Given the description of an element on the screen output the (x, y) to click on. 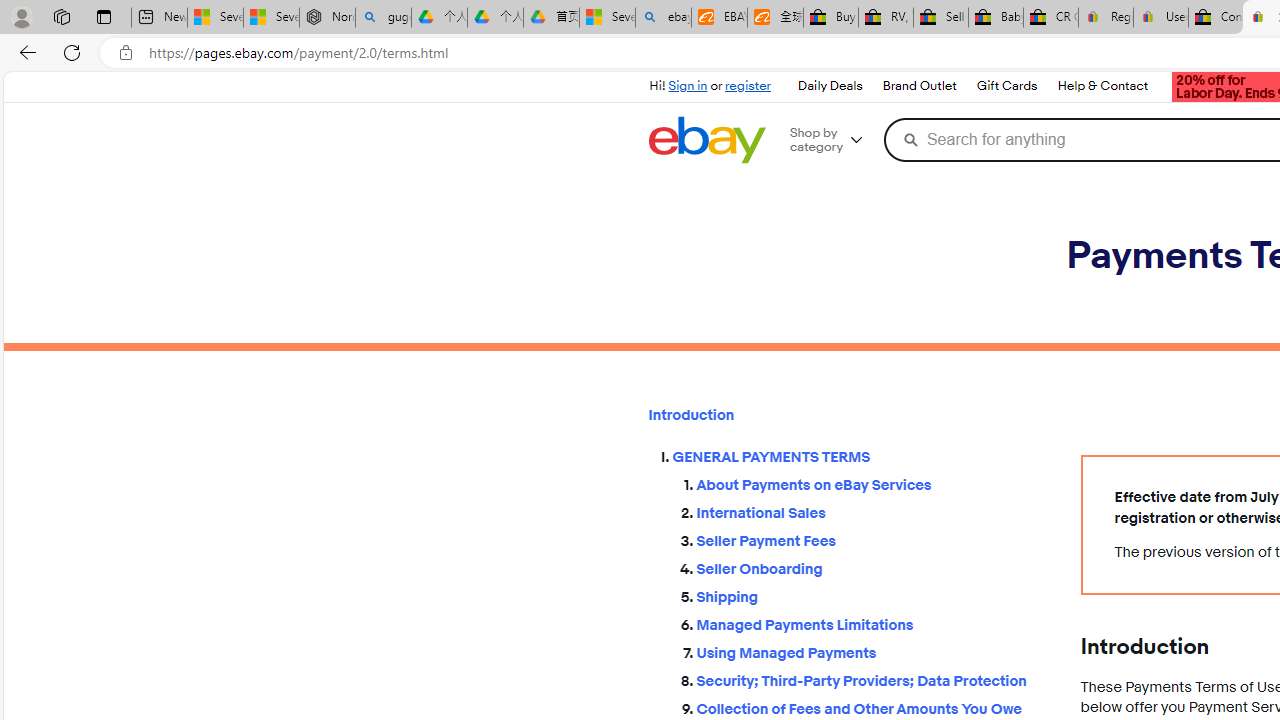
Managed Payments Limitations (872, 620)
User Privacy Notice | eBay (1160, 17)
About Payments on eBay Services (872, 485)
Daily Deals (829, 85)
Daily Deals (829, 86)
eBay Home (706, 139)
Consumer Health Data Privacy Policy - eBay Inc. (1215, 17)
Help & Contact (1101, 85)
